Given the description of an element on the screen output the (x, y) to click on. 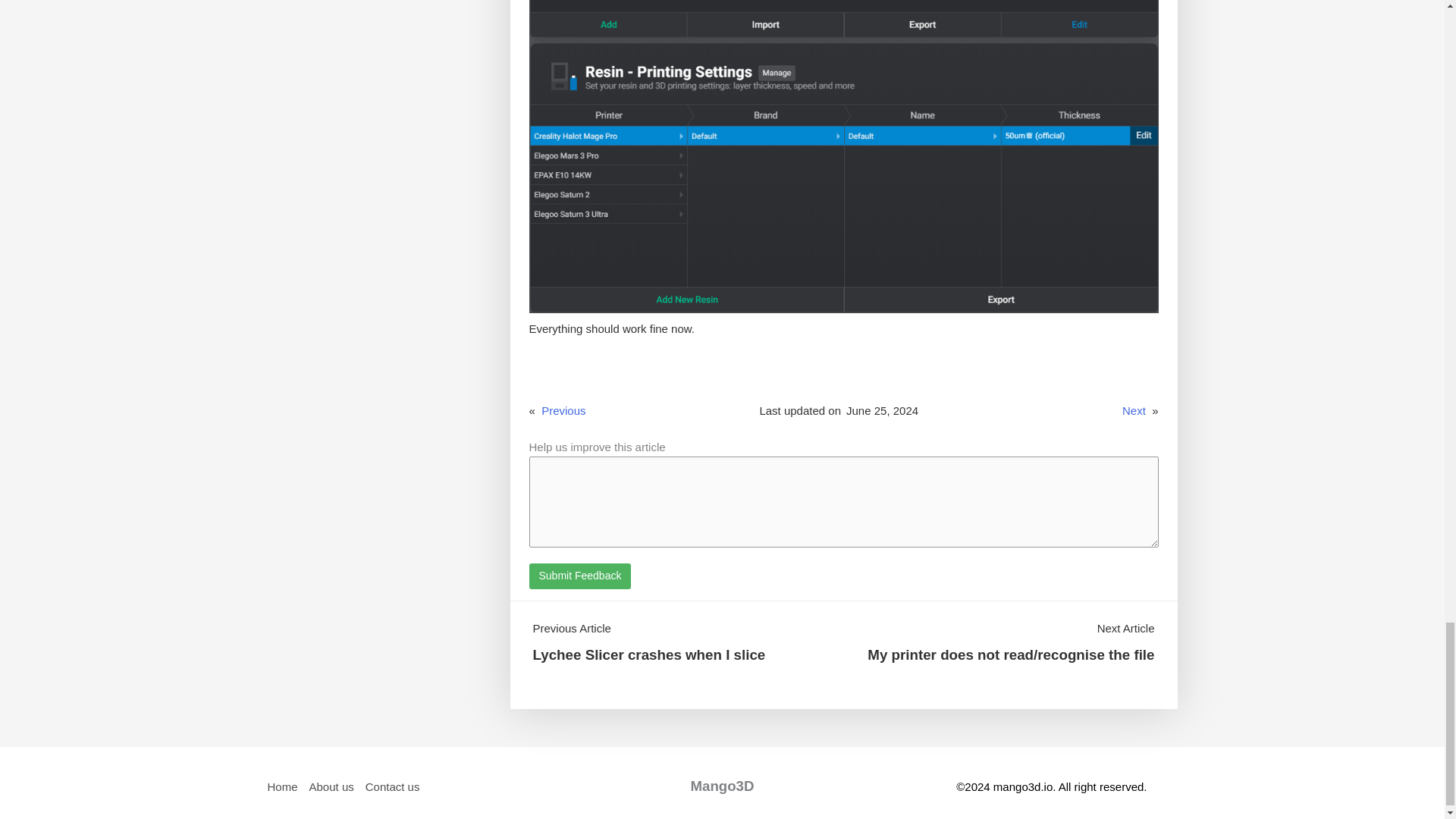
Next (1133, 410)
Submit Feedback (580, 575)
Lychee Slicer crashes when I slice (648, 654)
Previous (563, 410)
